Given the description of an element on the screen output the (x, y) to click on. 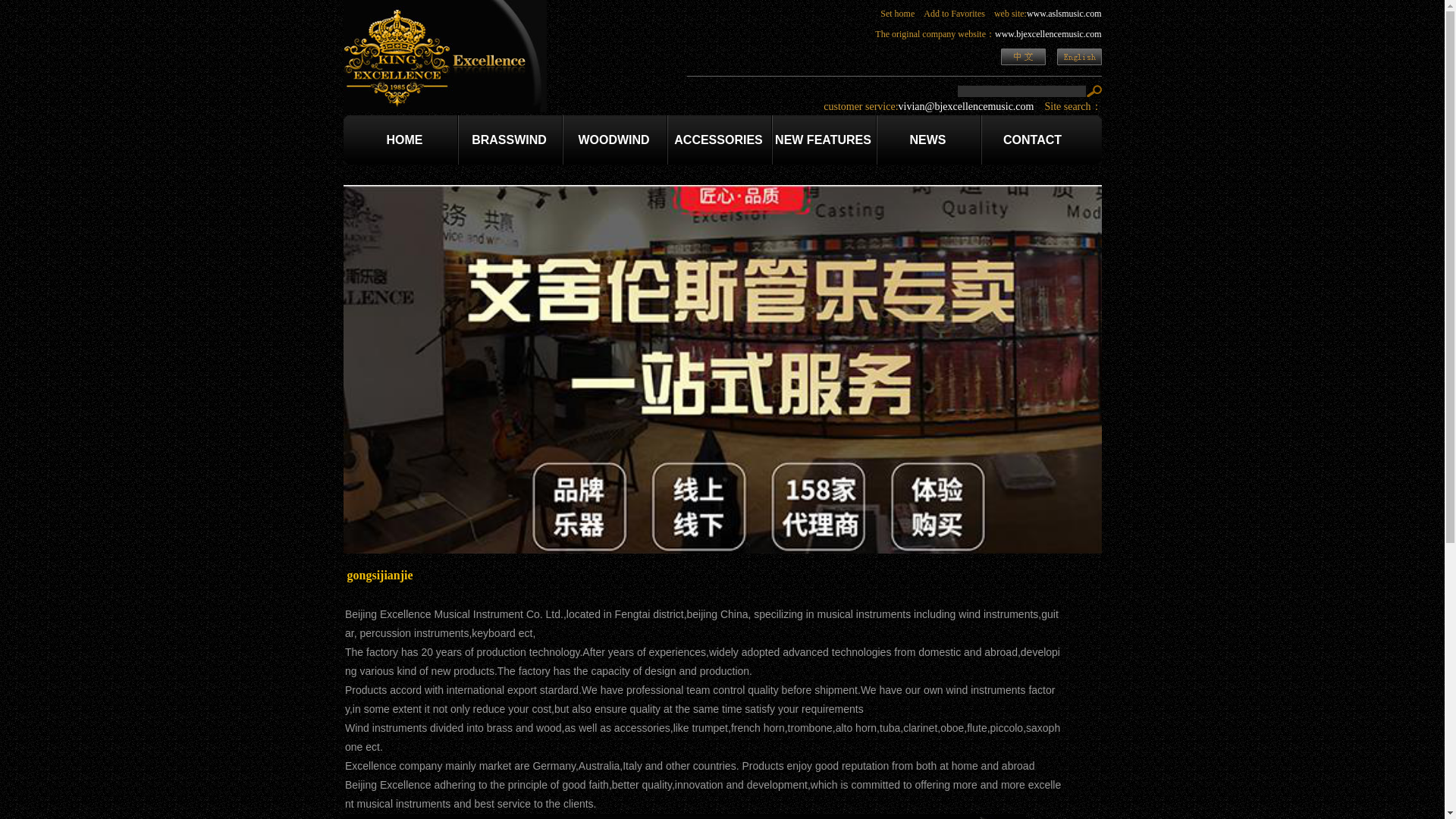
HOME (405, 139)
Set home (897, 13)
ACCESSORIES (717, 139)
BRASSWIND (509, 139)
Add to Favorites (954, 13)
WOODWIND (613, 139)
